Given the description of an element on the screen output the (x, y) to click on. 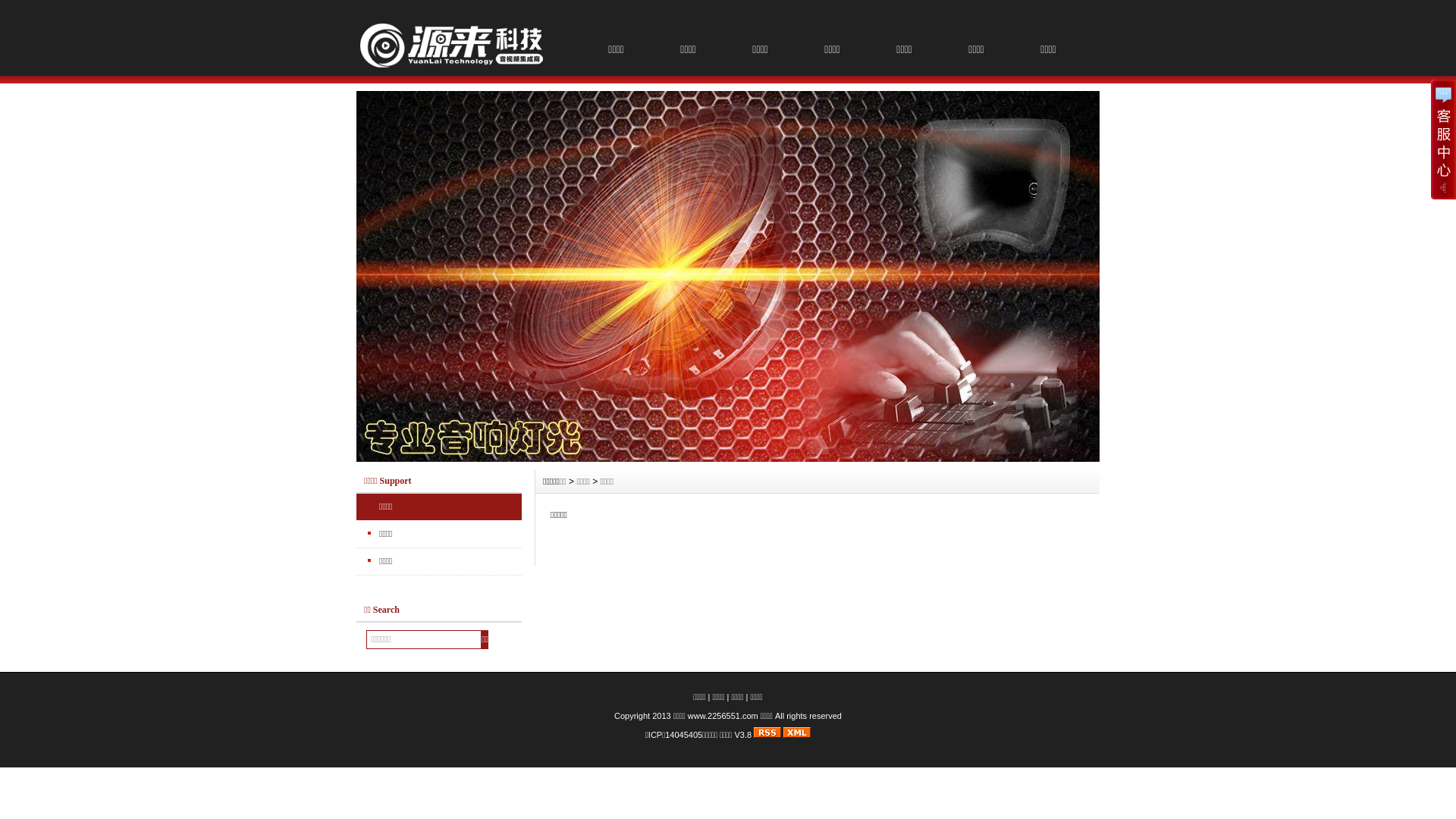
V3.8 Element type: text (742, 734)
